Given the description of an element on the screen output the (x, y) to click on. 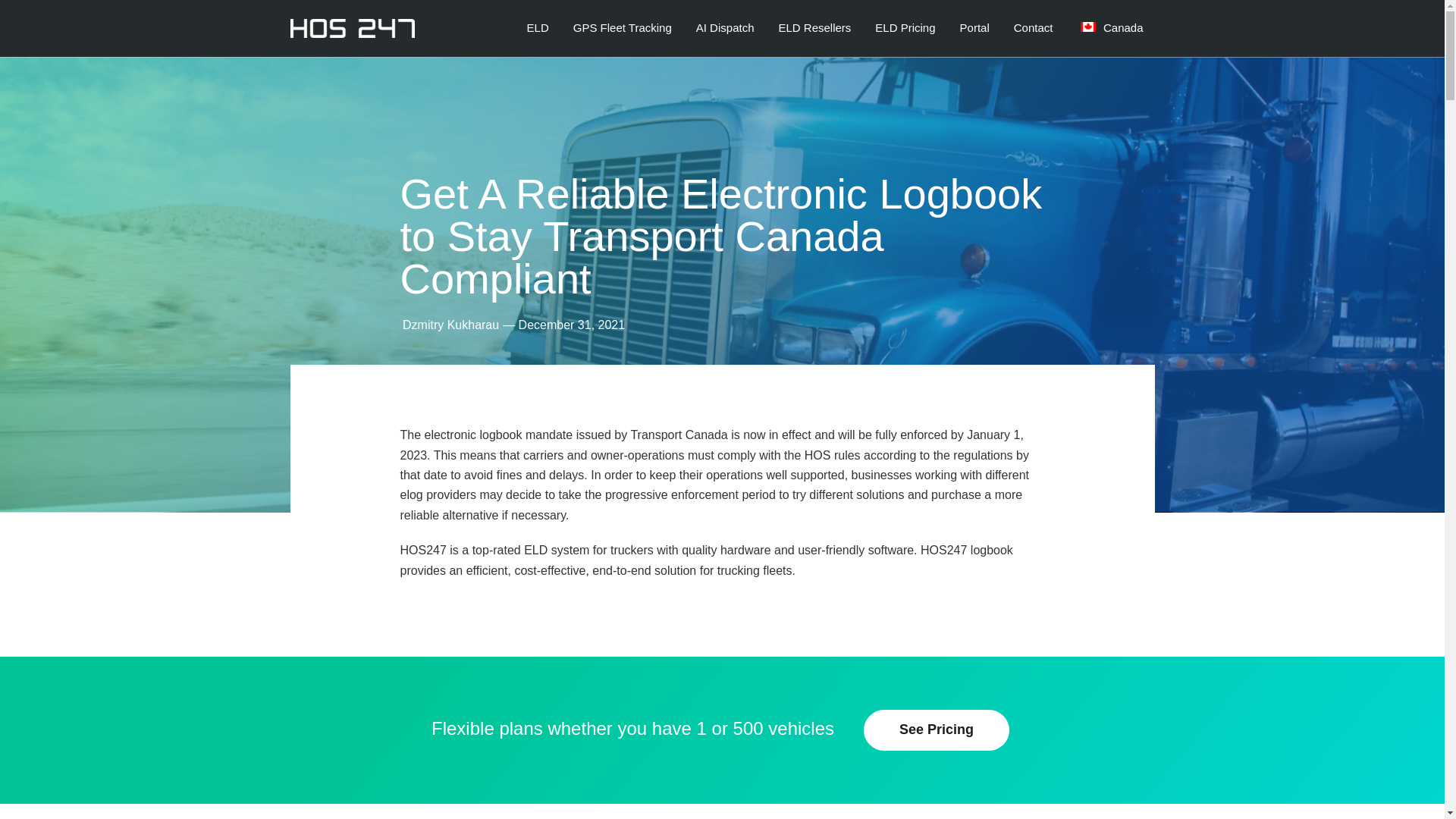
Canada (1109, 27)
GPS Fleet Tracking (622, 27)
See Pricing (936, 730)
ELD Resellers (813, 27)
Contact (1032, 27)
Dzmitry Kukharau (450, 324)
ELD Pricing (904, 27)
Canada (1109, 27)
AI Dispatch (724, 27)
